Given the description of an element on the screen output the (x, y) to click on. 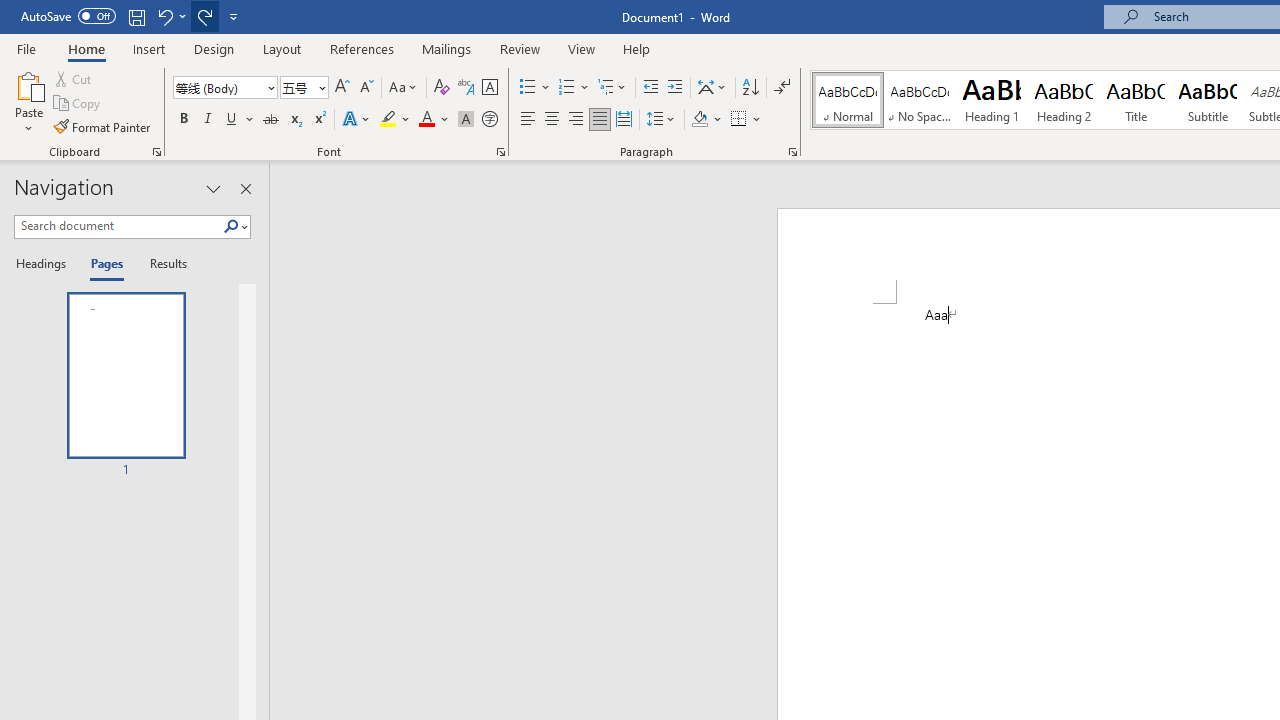
Undo Apply Quick Style (170, 15)
Paragraph... (792, 151)
Font Color Red (426, 119)
Enclose Characters... (489, 119)
Strikethrough (270, 119)
Change Case (404, 87)
Office Clipboard... (156, 151)
Text Effects and Typography (357, 119)
Italic (207, 119)
